Given the description of an element on the screen output the (x, y) to click on. 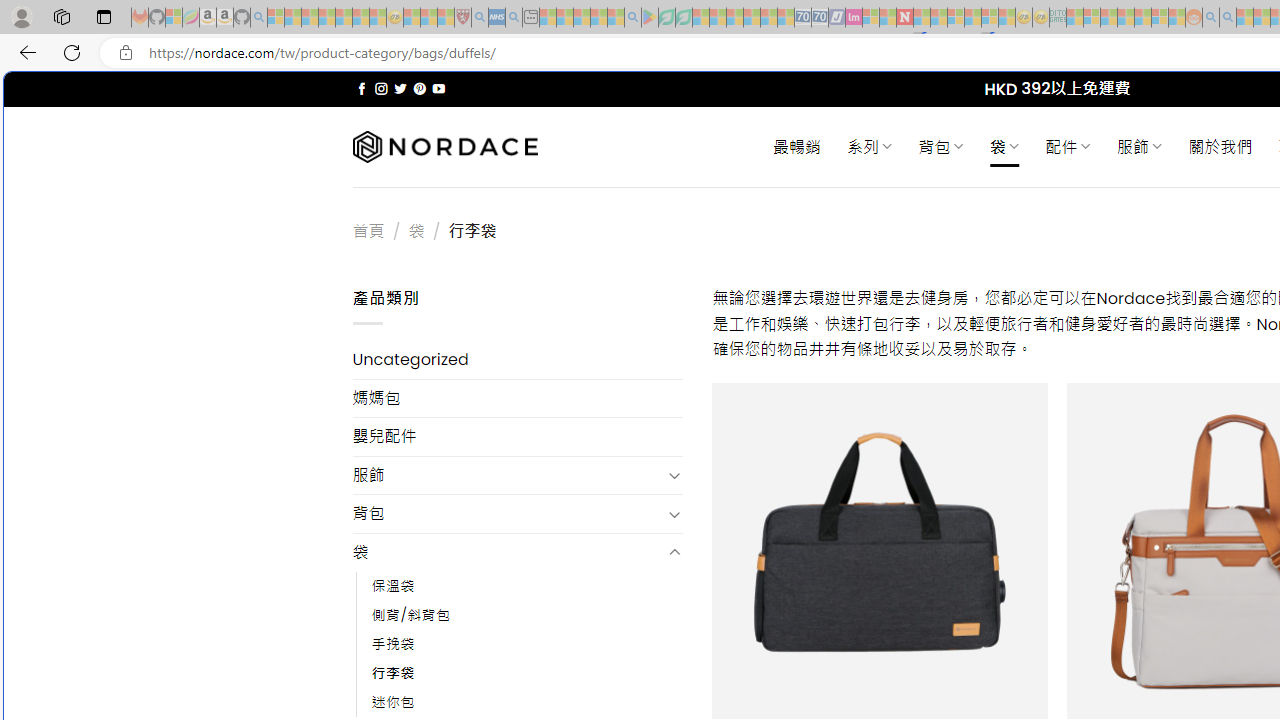
google - Search - Sleeping (632, 17)
